Given the description of an element on the screen output the (x, y) to click on. 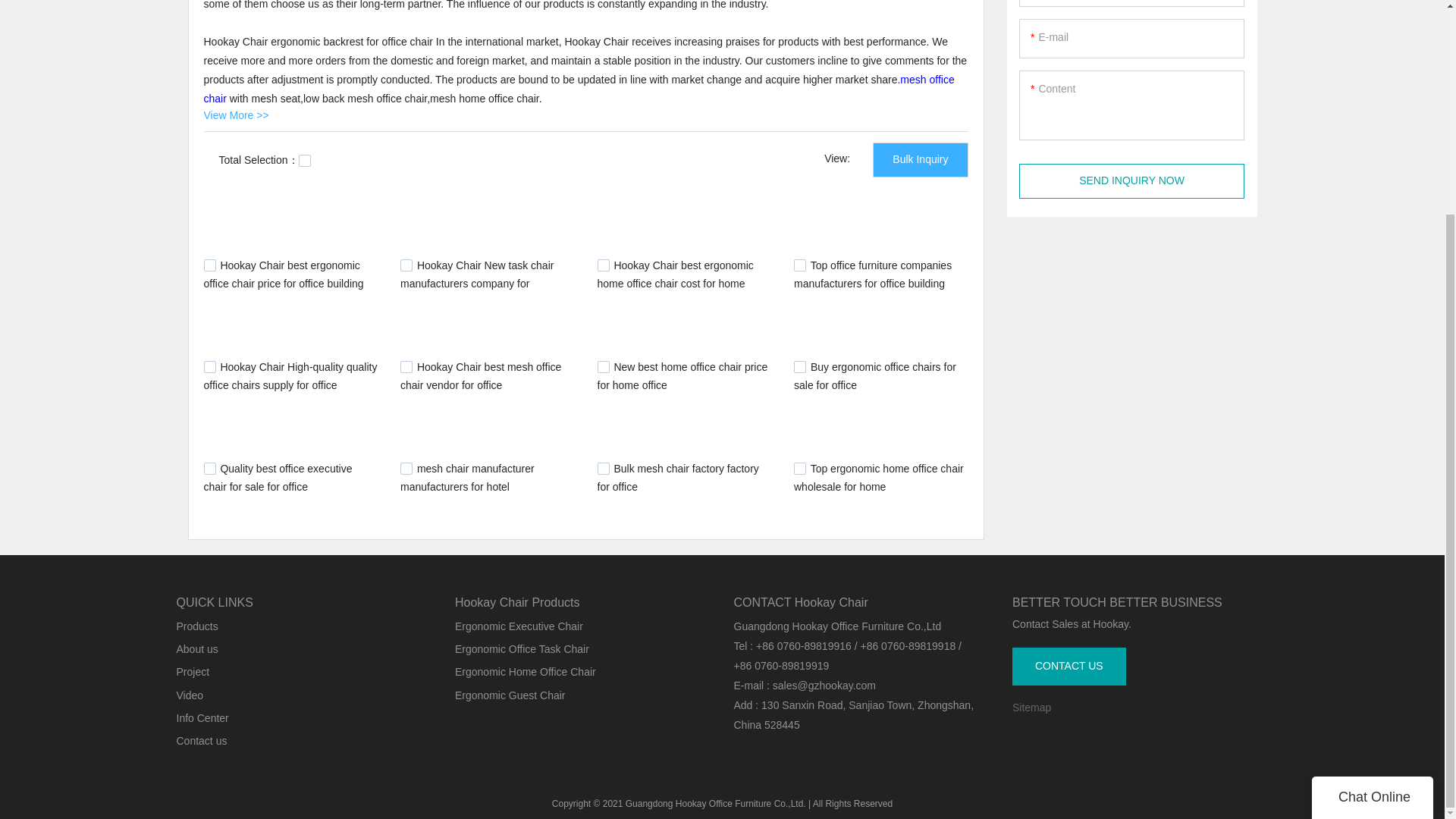
2677 (209, 265)
Bulk mesh chair factory factory for office (677, 477)
2198 (209, 468)
on (304, 160)
2591 (209, 367)
2207 (799, 367)
Hookay Chair best mesh office chair vendor for office (480, 376)
New best home office chair price for home office (682, 376)
